Given the description of an element on the screen output the (x, y) to click on. 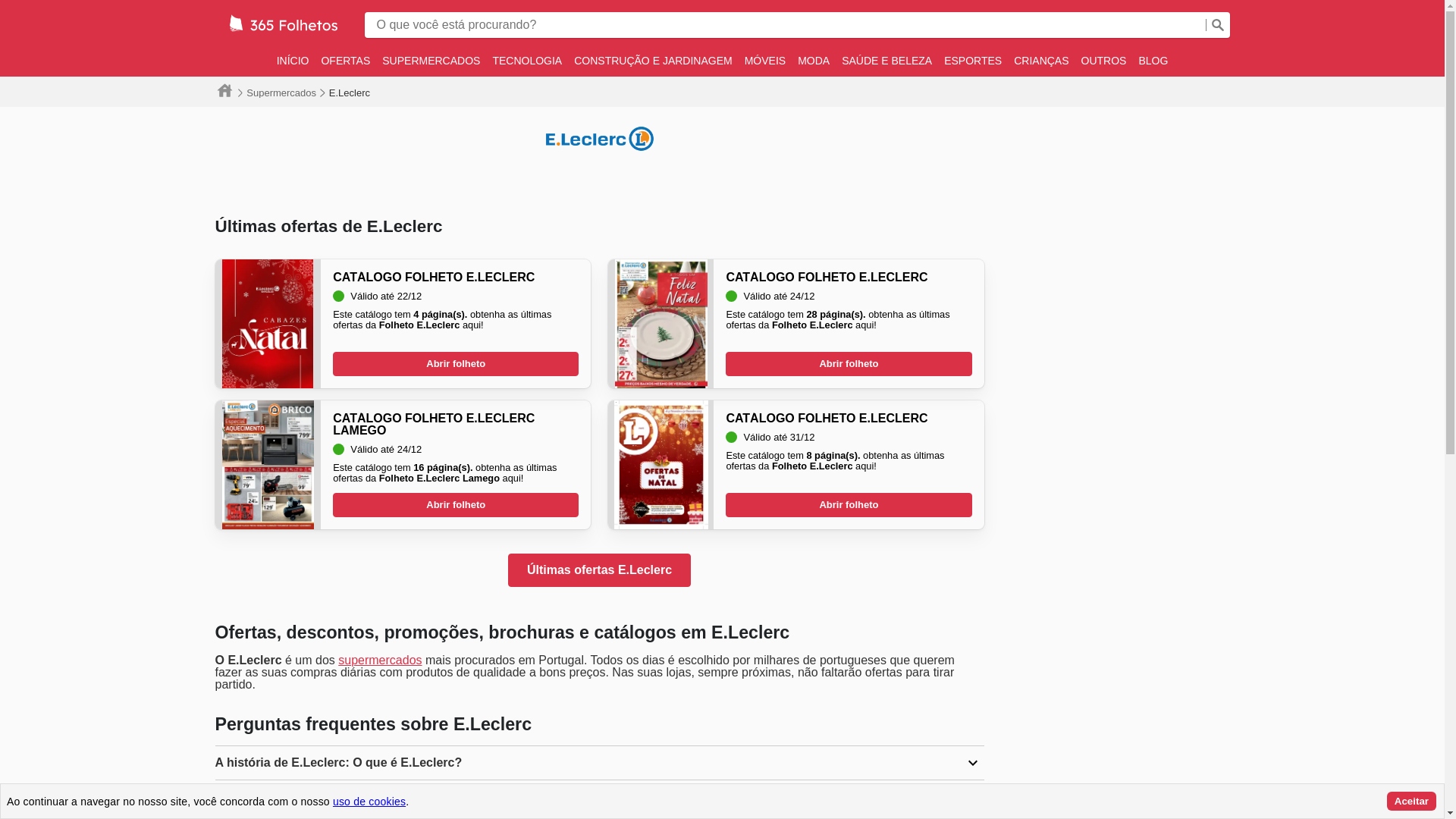
OFERTAS Element type: text (345, 60)
Abrir folheto Element type: text (848, 363)
uso de cookies Element type: text (368, 800)
TECNOLOGIA Element type: text (526, 60)
OUTROS Element type: text (1103, 60)
BLOG Element type: text (1152, 60)
Aceitar Element type: text (1411, 800)
Abrir folheto Element type: text (848, 504)
SUPERMERCADOS Element type: text (431, 60)
Abrir folheto Element type: text (455, 363)
Abrir folheto Element type: text (455, 504)
ESPORTES Element type: text (972, 60)
Supermercados Element type: text (281, 92)
MODA Element type: text (813, 60)
supermercados Element type: text (379, 659)
